Given the description of an element on the screen output the (x, y) to click on. 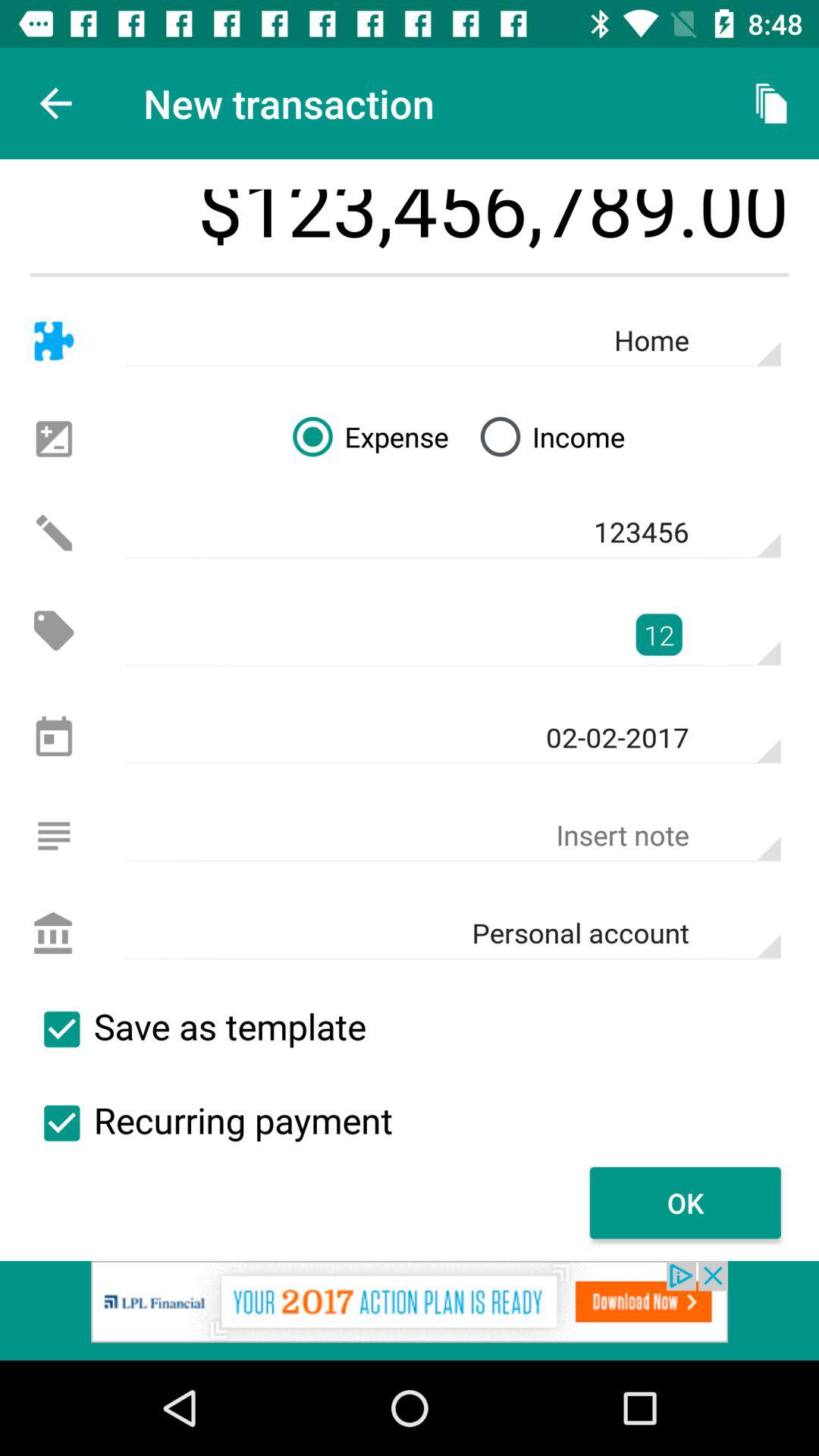
save as template (61, 1029)
